Given the description of an element on the screen output the (x, y) to click on. 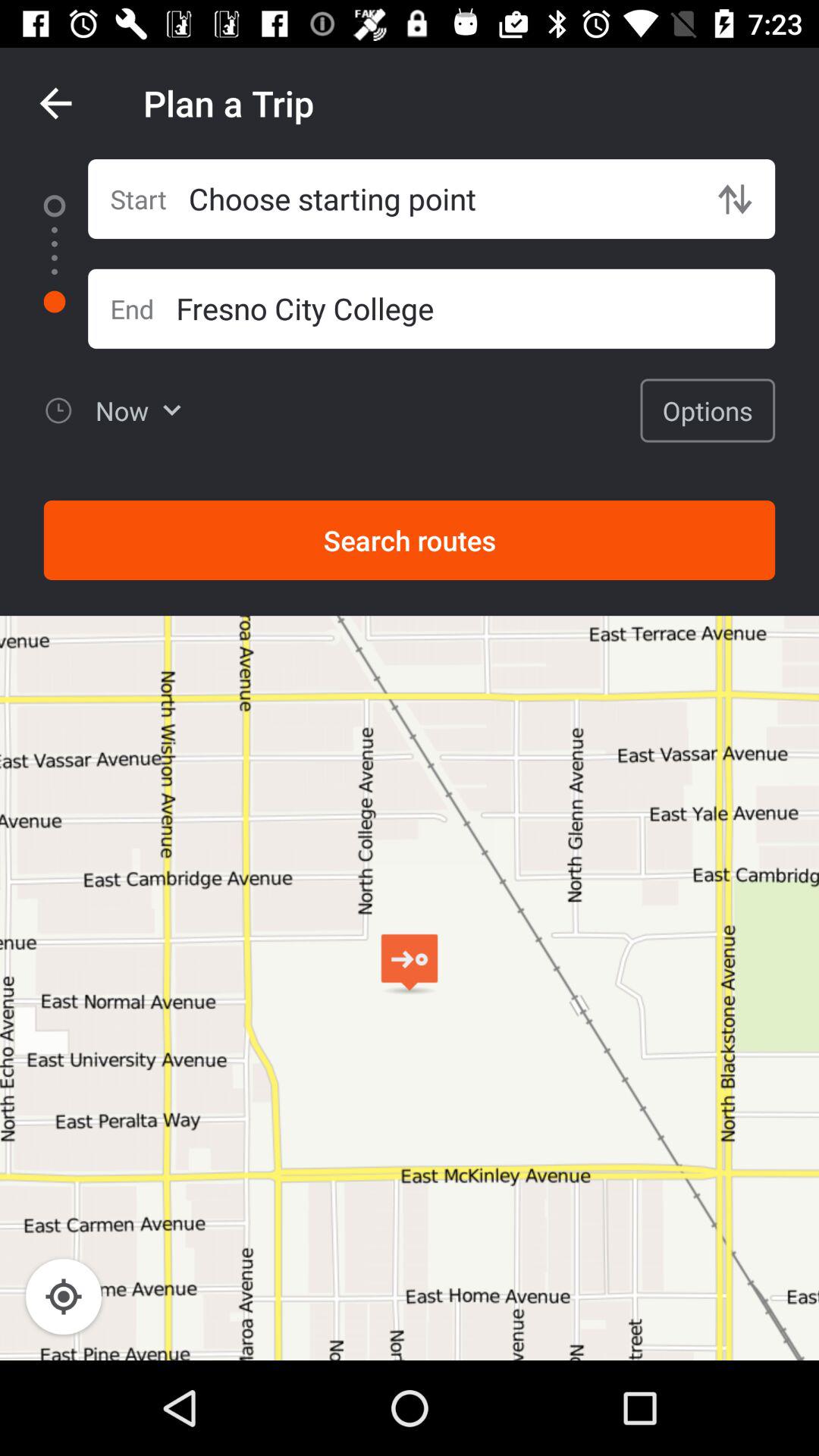
turn off the options icon (707, 410)
